Given the description of an element on the screen output the (x, y) to click on. 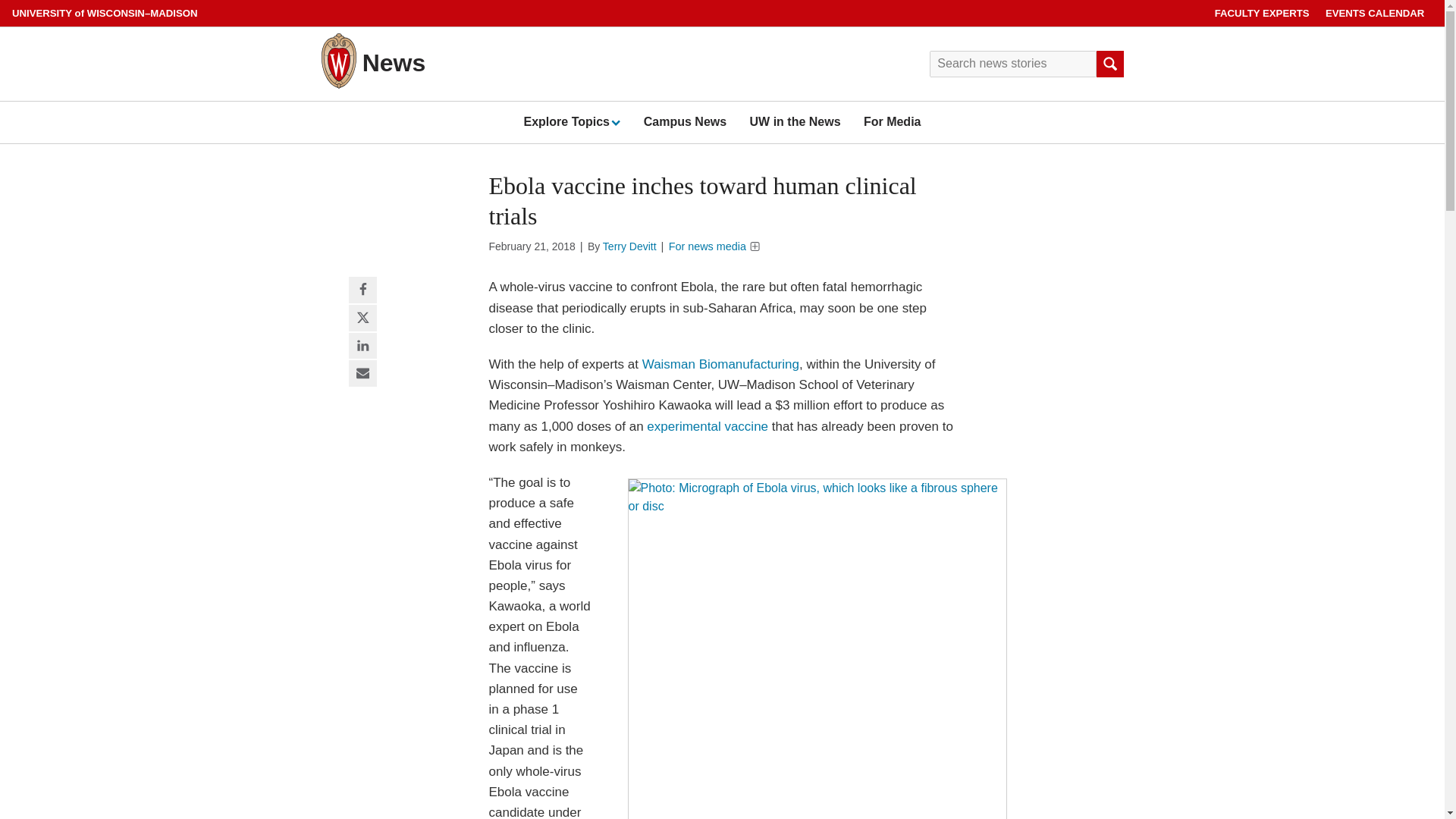
FACULTY EXPERTS (1262, 13)
Share via email (362, 373)
Campus News (684, 121)
Expand (615, 122)
Share via Facebook (362, 290)
For news media More information (714, 246)
experimental vaccine (707, 426)
Skip to main content (3, 3)
Terry Devitt (629, 246)
For Media (892, 121)
Share via X, formerly Twitter (362, 318)
Share via Linked In (362, 345)
More information (754, 246)
Submit search (1109, 63)
UW in the News (795, 121)
